Given the description of an element on the screen output the (x, y) to click on. 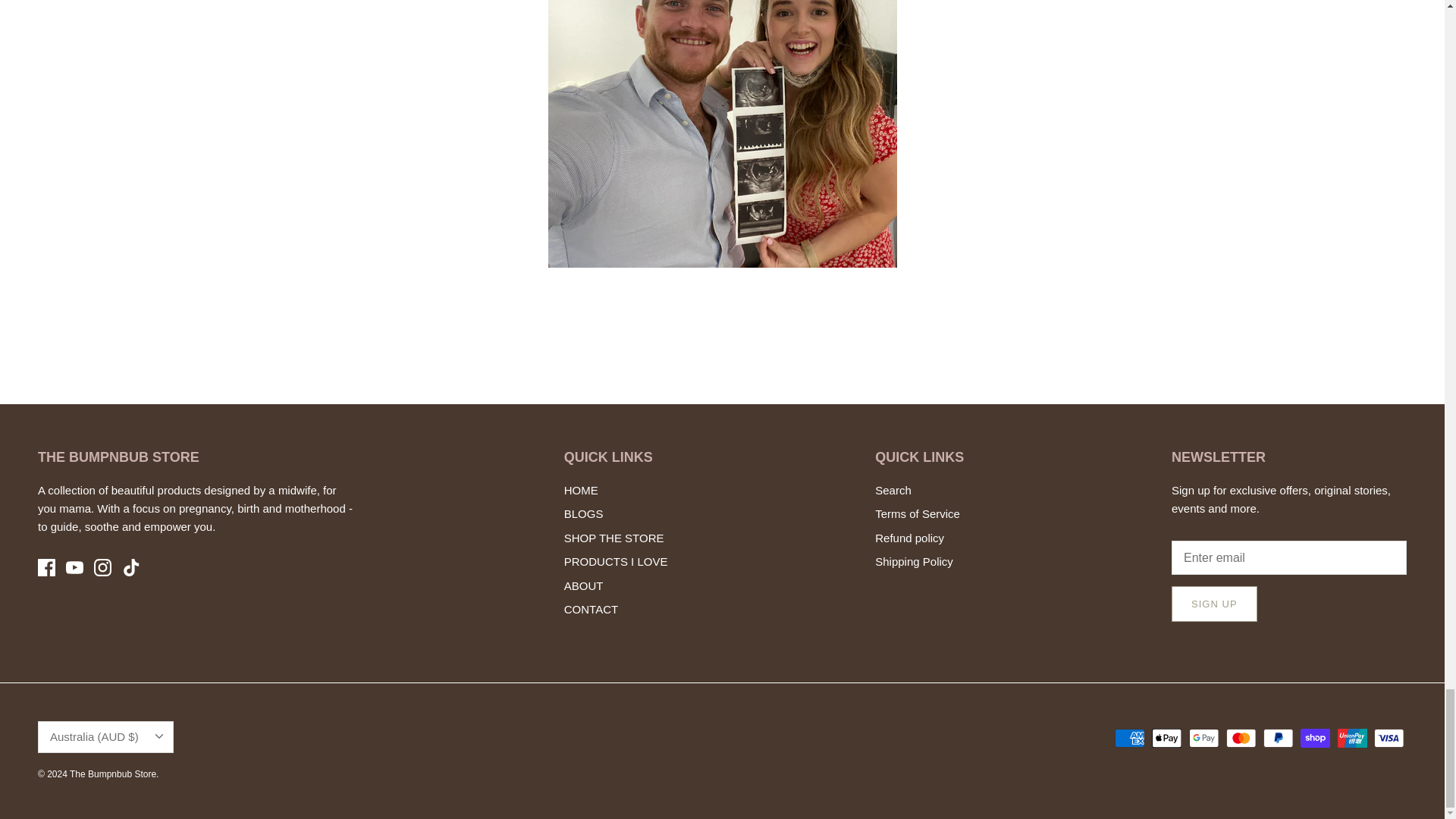
PayPal (1277, 737)
PRODUCTS I LOVE (616, 561)
Instagram (103, 567)
Youtube (73, 567)
Youtube (73, 567)
Down (158, 735)
HOME (581, 490)
Facebook (46, 567)
Facebook (46, 567)
Apple Pay (1166, 737)
